Given the description of an element on the screen output the (x, y) to click on. 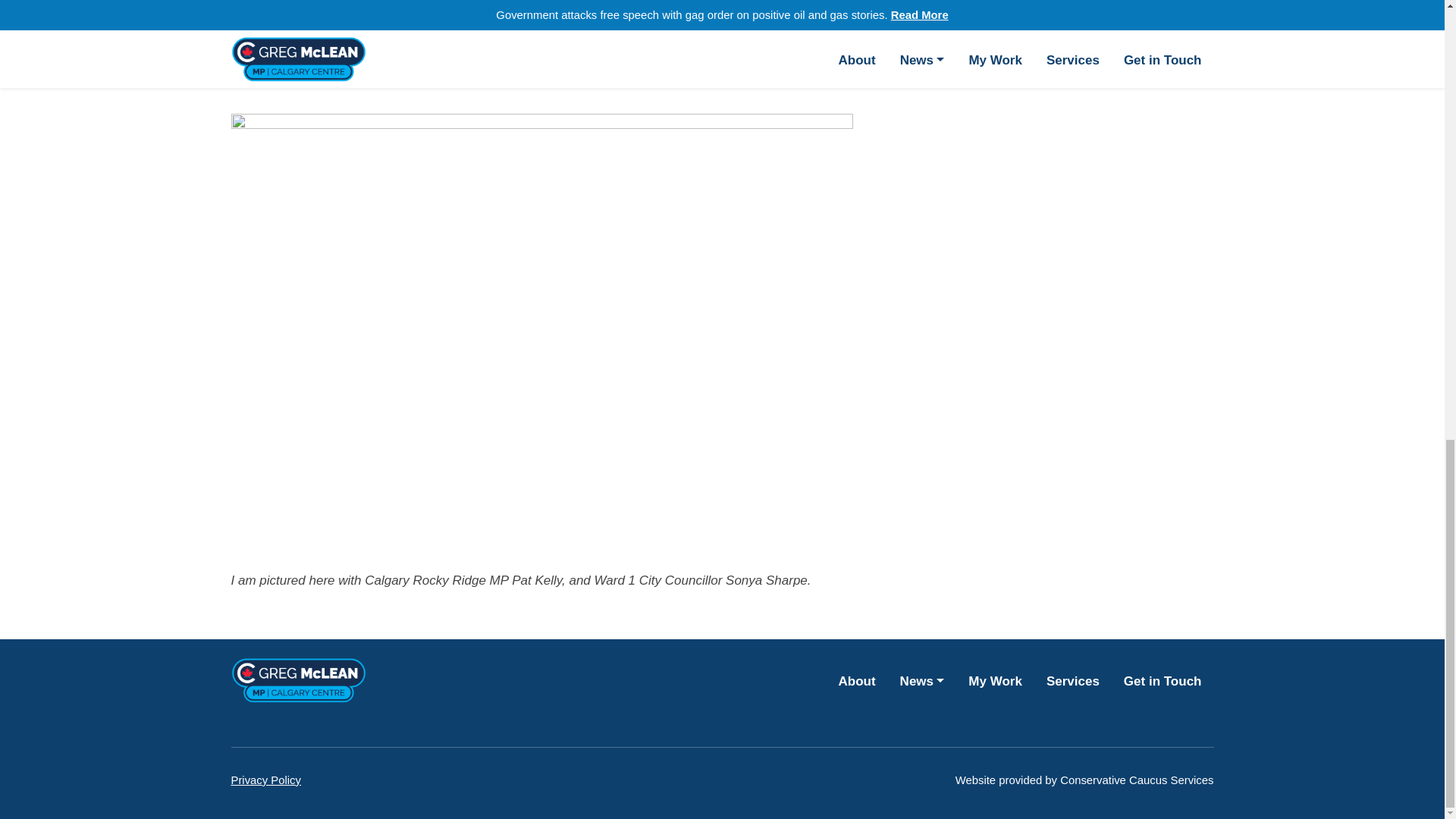
Get in Touch (1163, 680)
Privacy Policy (264, 779)
My Work (994, 680)
News (922, 680)
About (857, 680)
Services (1072, 680)
